Given the description of an element on the screen output the (x, y) to click on. 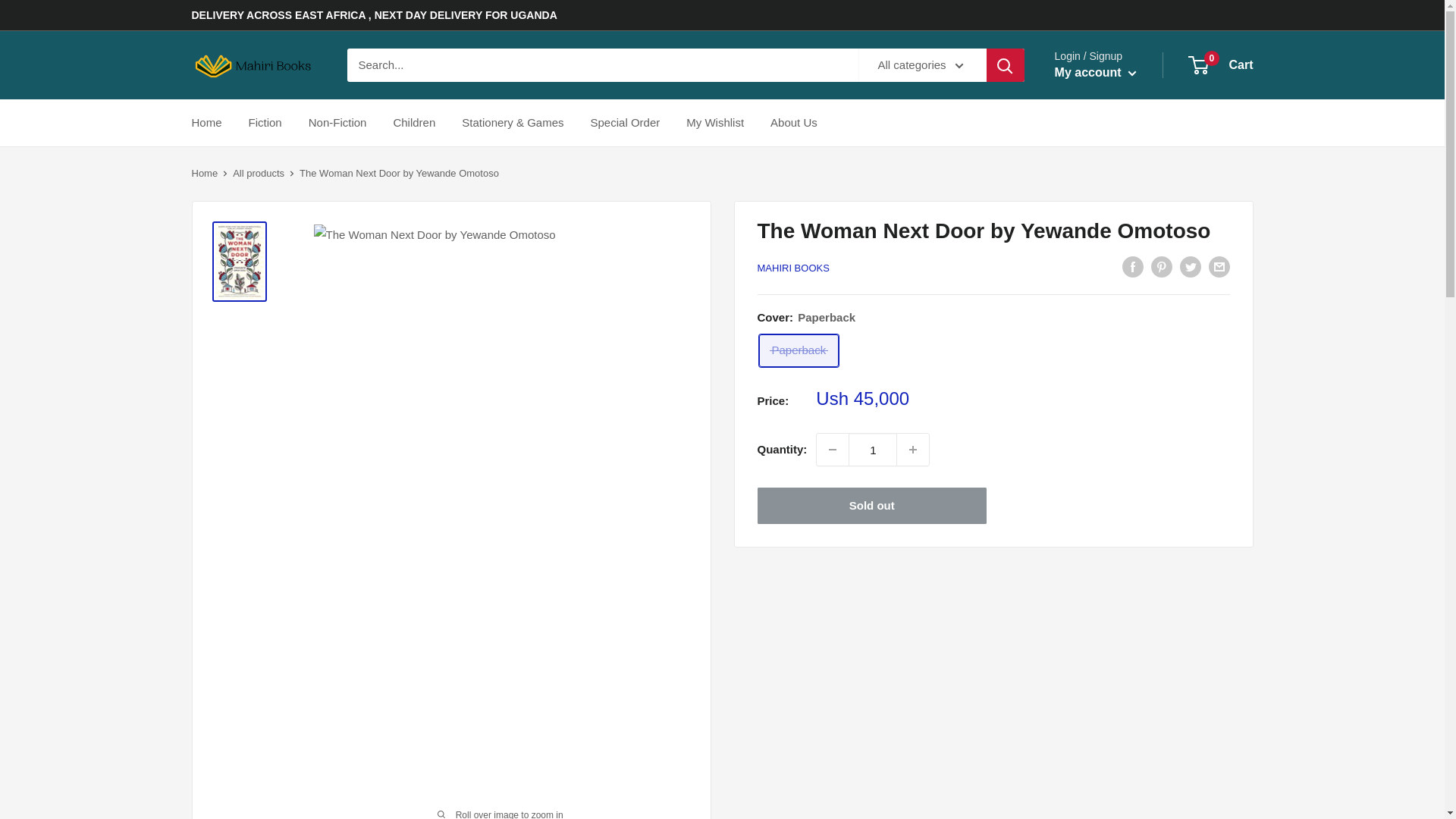
All products (257, 173)
1 (872, 450)
Decrease quantity by 1 (832, 450)
Home (1220, 65)
My account (203, 173)
Increase quantity by 1 (1095, 72)
Special Order (912, 450)
Children (626, 122)
Home (414, 122)
